Given the description of an element on the screen output the (x, y) to click on. 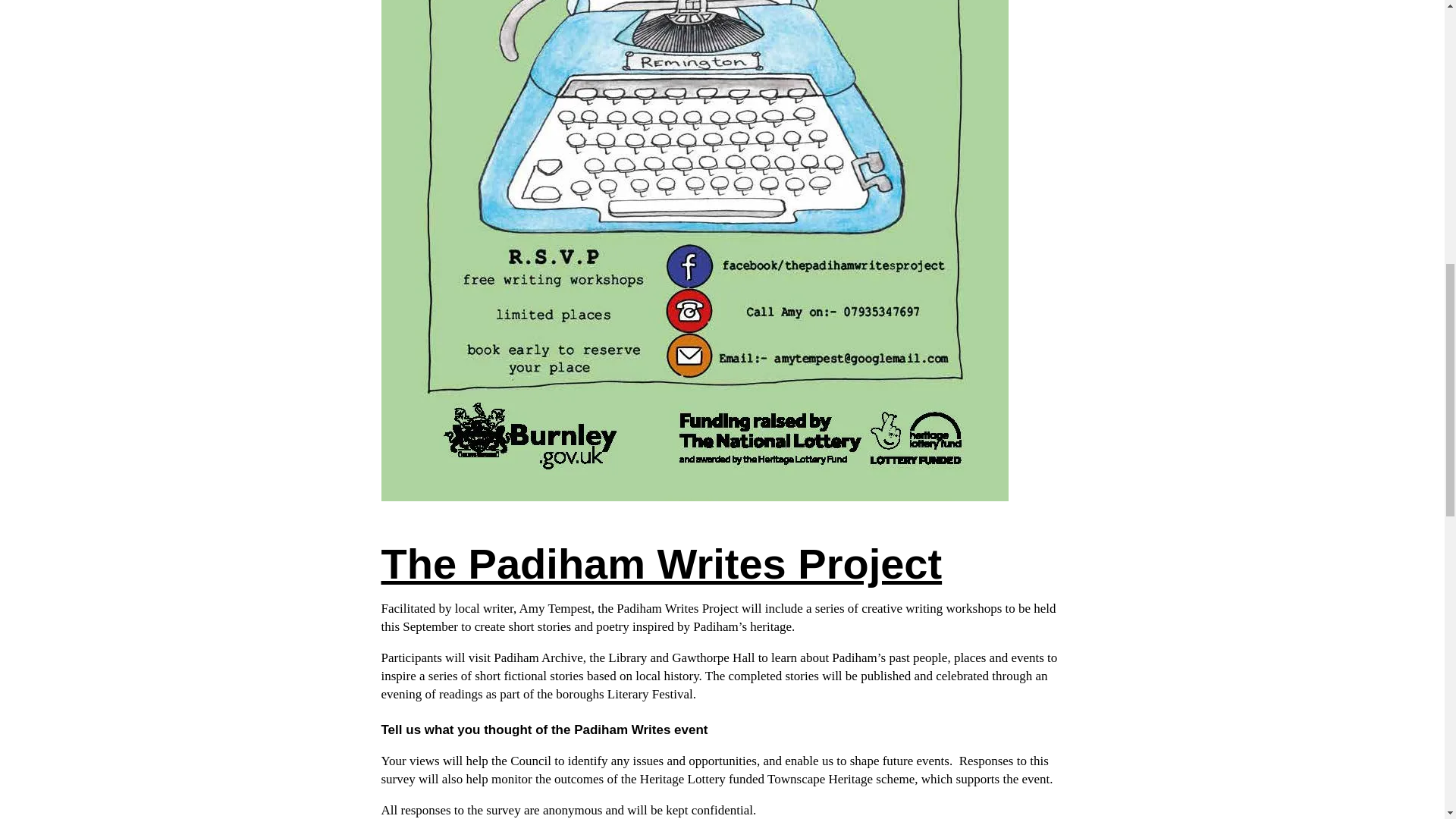
Permanent Link to The Padiham Writes Project (661, 563)
The Padiham Writes Project (661, 563)
